Given the description of an element on the screen output the (x, y) to click on. 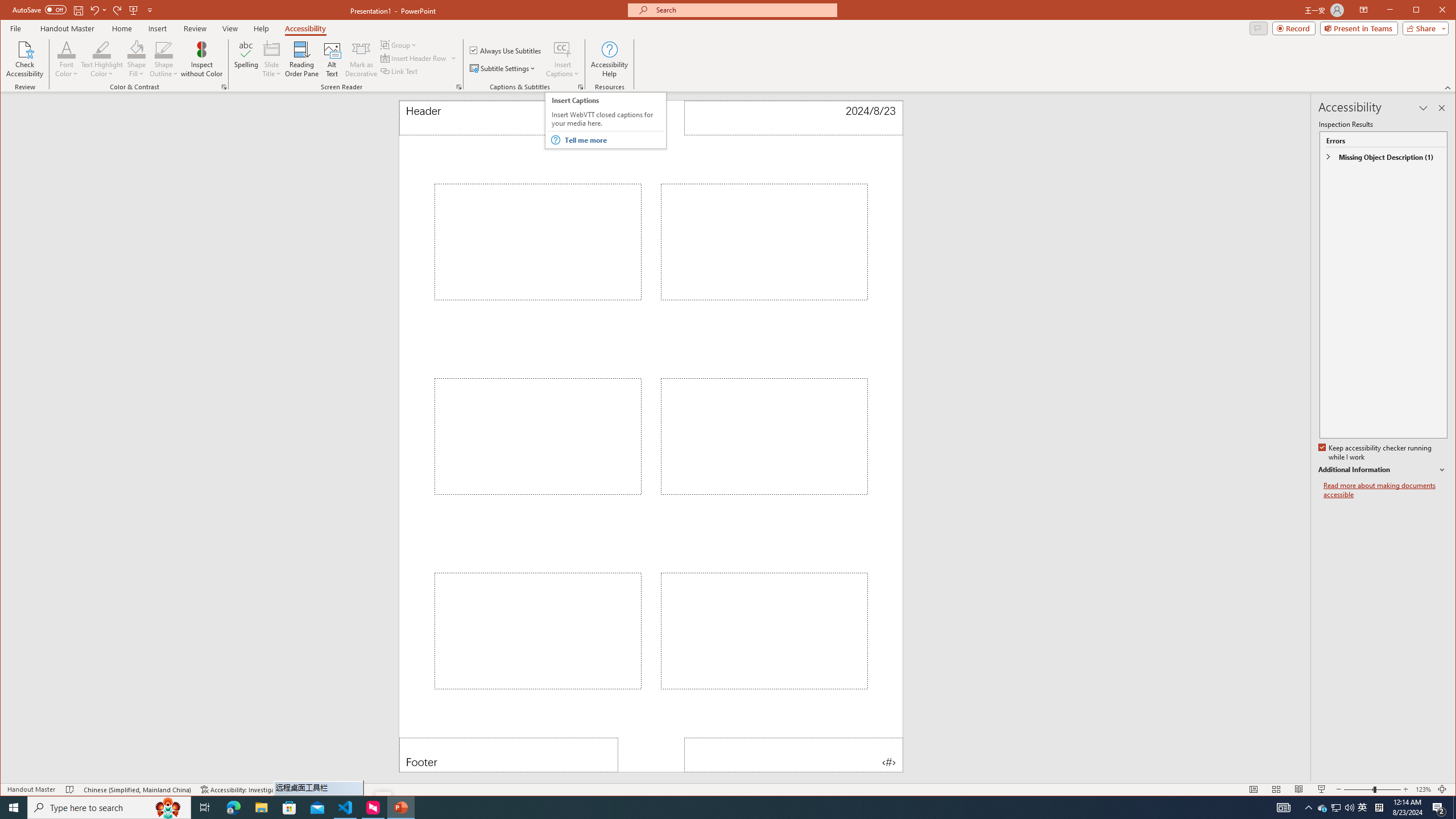
Keep accessibility checker running while I work (1375, 452)
Mark as Decorative (360, 59)
Microsoft Edge (233, 807)
Slide Title (271, 59)
Screen Reader (458, 86)
